Given the description of an element on the screen output the (x, y) to click on. 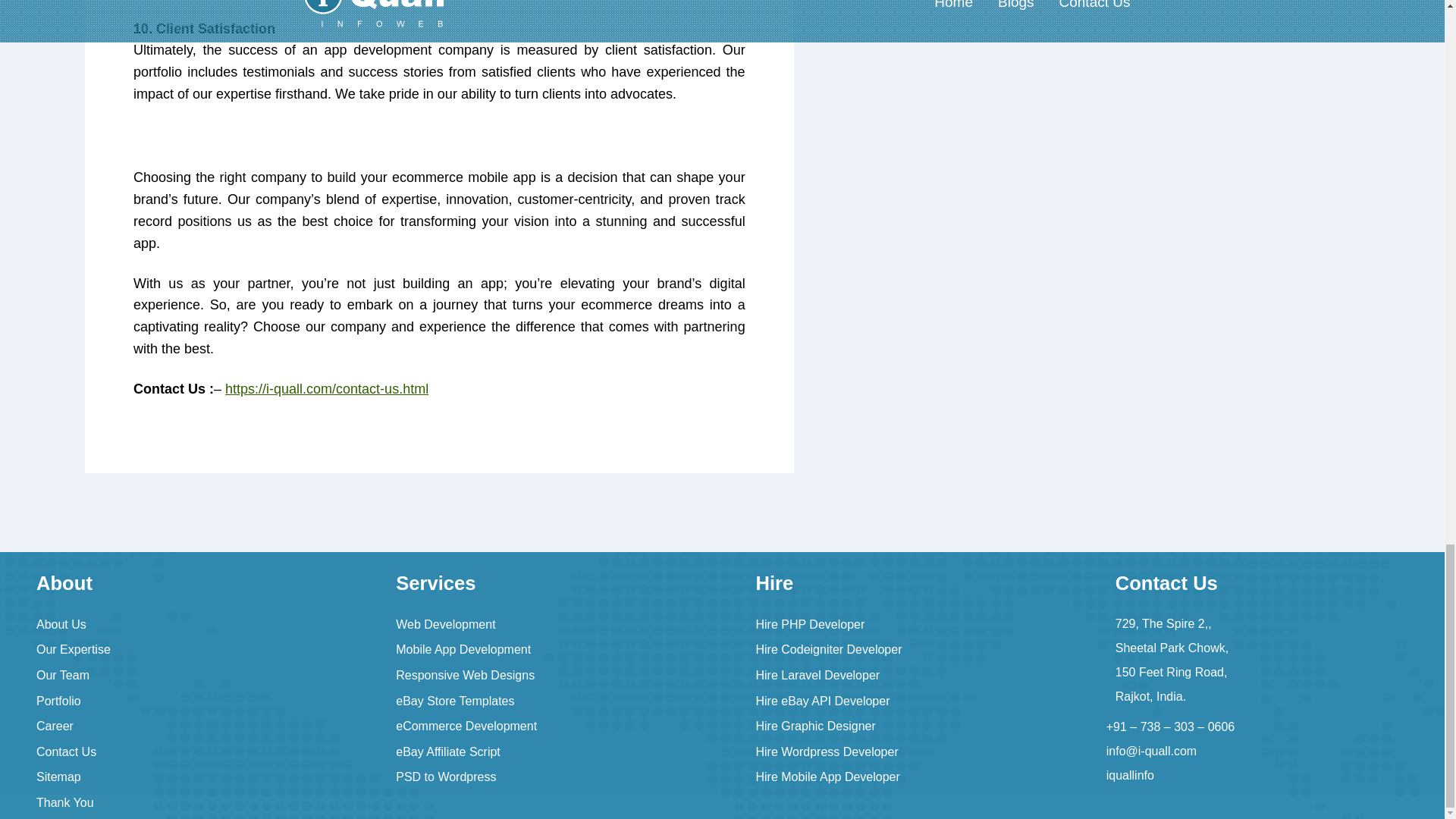
Contact Us (66, 751)
Sitemap (58, 776)
About Us (60, 624)
Portfolio (58, 700)
Our Expertise (73, 649)
Our Team (62, 675)
Career (55, 725)
